Given the description of an element on the screen output the (x, y) to click on. 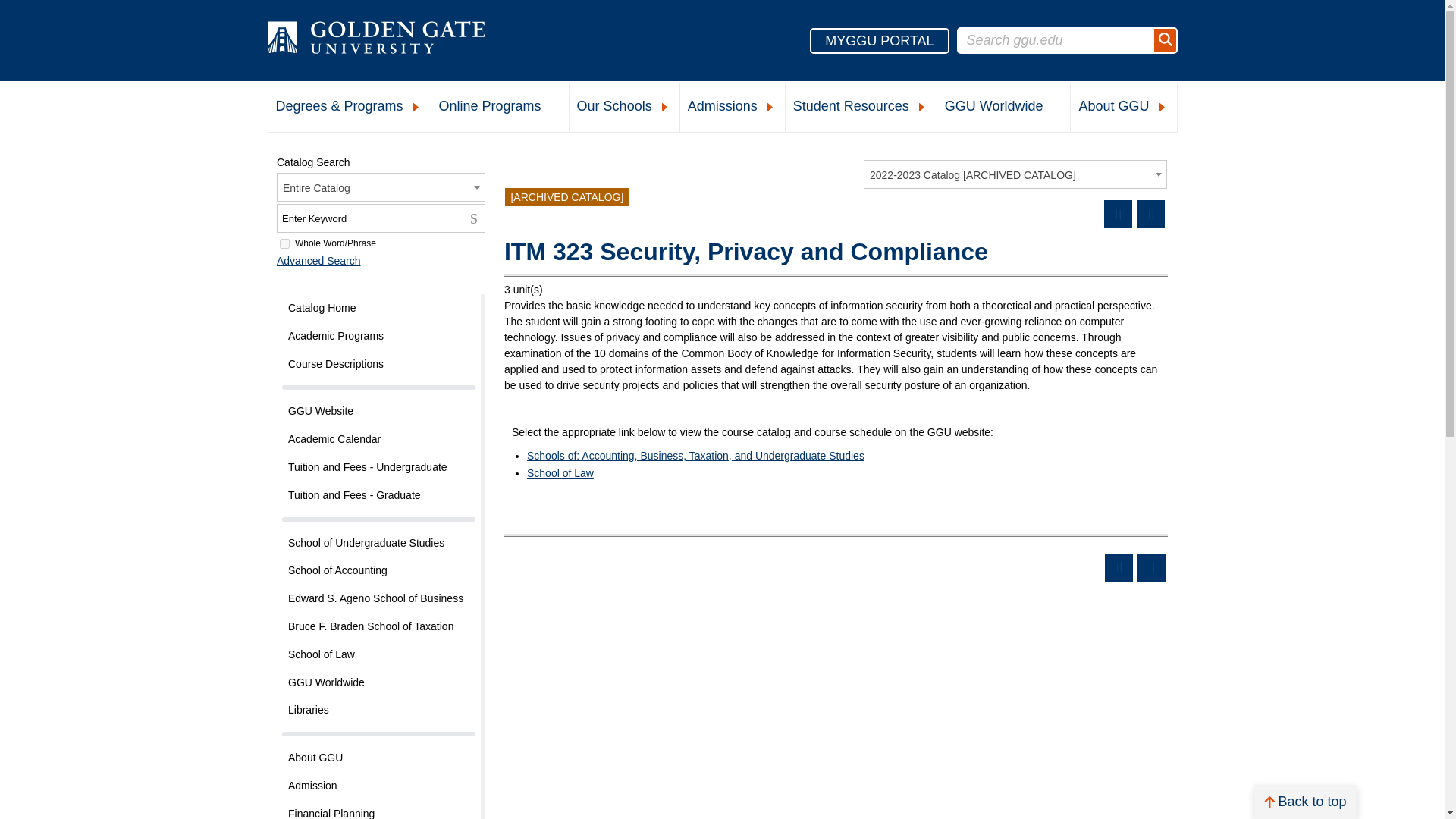
MYGGU PORTAL (879, 40)
Exact Match (284, 243)
1 (284, 243)
Enter Keyword   (380, 217)
Expand Student Resources Submenu (921, 107)
Choose Search Location (380, 186)
About GGU (1123, 108)
Search (1165, 40)
Search (476, 218)
Select a Catalog (1015, 174)
Search Keyword Field, required (380, 217)
Expand Admissions Submenu (769, 107)
Expand Our Schools Submenu (664, 107)
